Given the description of an element on the screen output the (x, y) to click on. 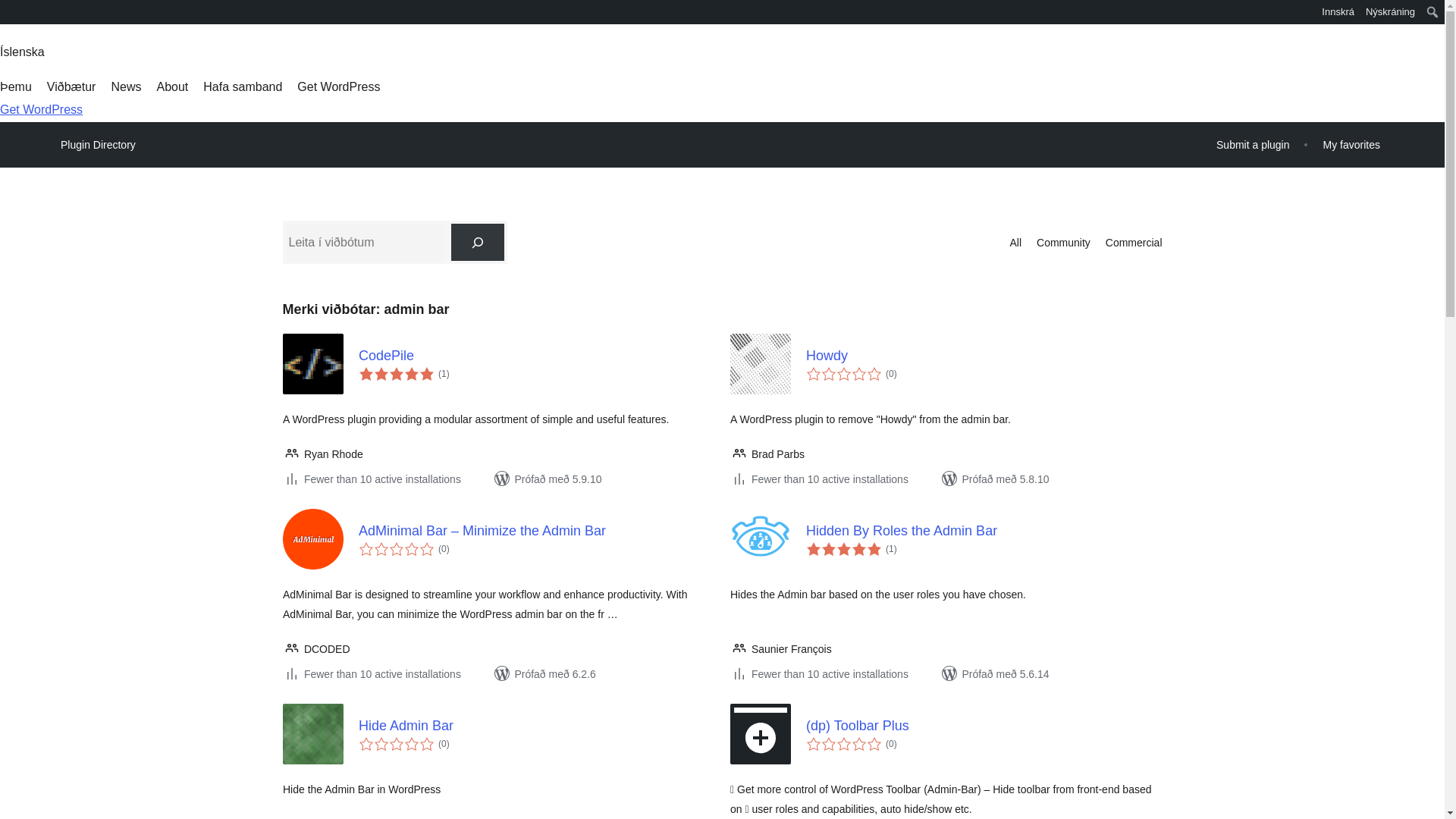
News (125, 87)
Leita (12, 13)
Community (1063, 242)
My favorites (1351, 144)
Howdy (983, 355)
Commercial (1133, 242)
Plugin Directory (97, 144)
Get WordPress (41, 109)
Submit a plugin (1253, 144)
Get WordPress (338, 87)
Hafa samband (242, 87)
Hidden By Roles the Admin Bar (983, 530)
WordPress.org (10, 16)
CodePile (536, 355)
Hide Admin Bar (536, 725)
